Given the description of an element on the screen output the (x, y) to click on. 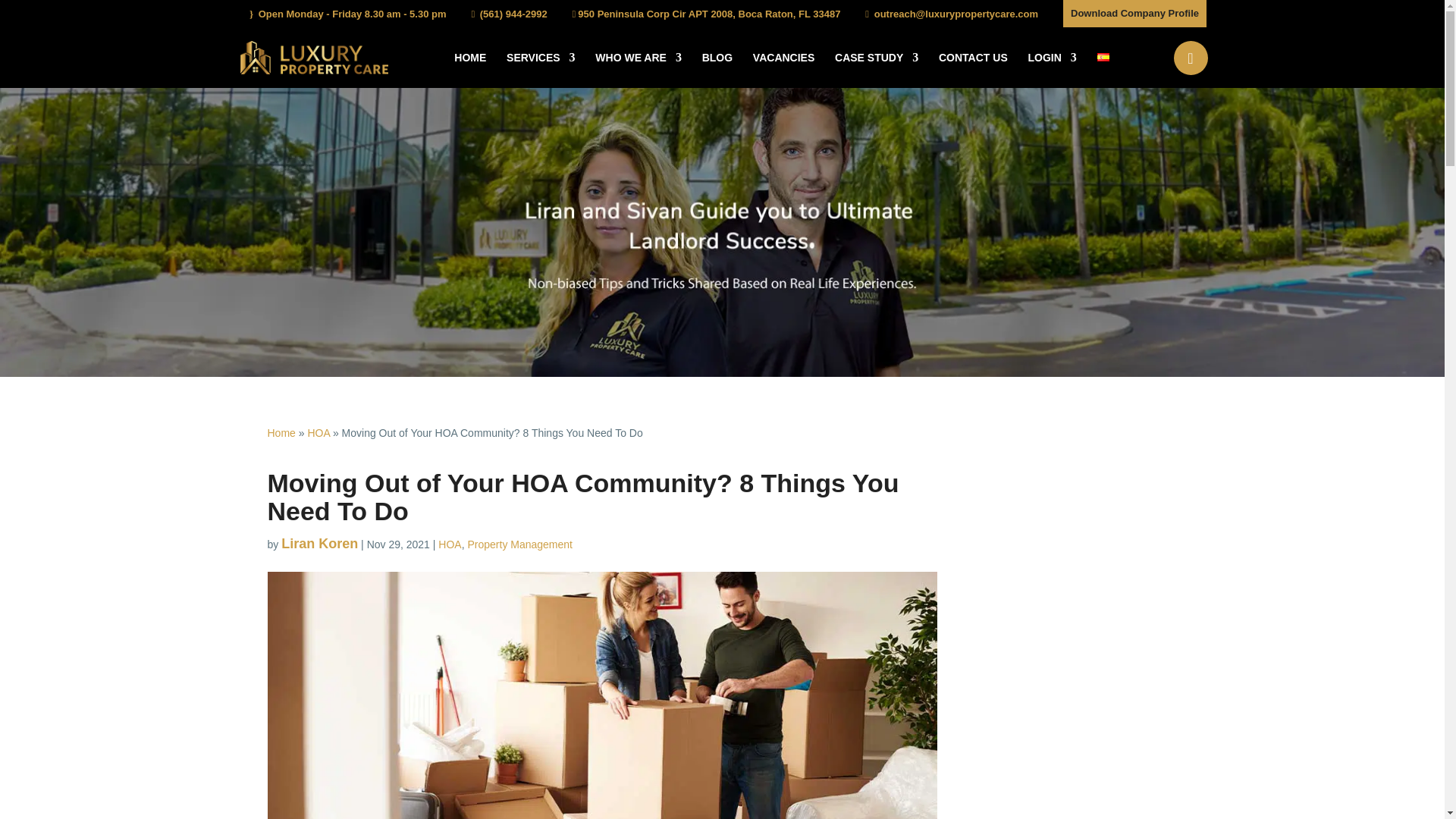
CONTACT US (973, 69)
HOME (470, 69)
CASE STUDY (876, 69)
VACANCIES (782, 69)
Download Company Profile (1134, 13)
Posts by Liran Koren (319, 543)
SERVICES (540, 69)
WHO WE ARE (638, 69)
